Given the description of an element on the screen output the (x, y) to click on. 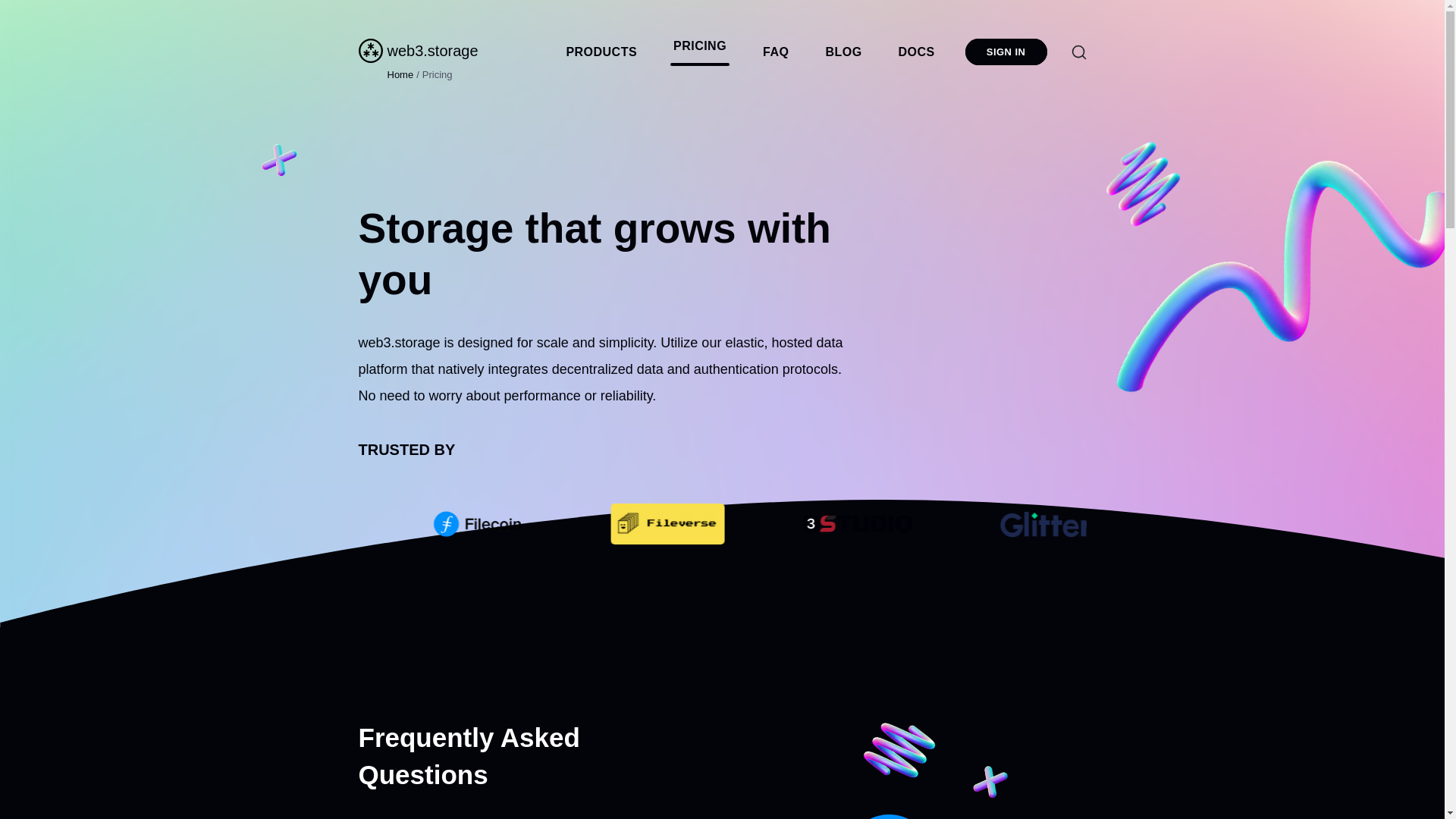
Home (400, 73)
BLOG (842, 51)
web3.storage (419, 49)
DOCS (916, 51)
PRICING (699, 48)
PRODUCTS (601, 51)
FAQ (775, 51)
SIGN IN (1006, 50)
